Given the description of an element on the screen output the (x, y) to click on. 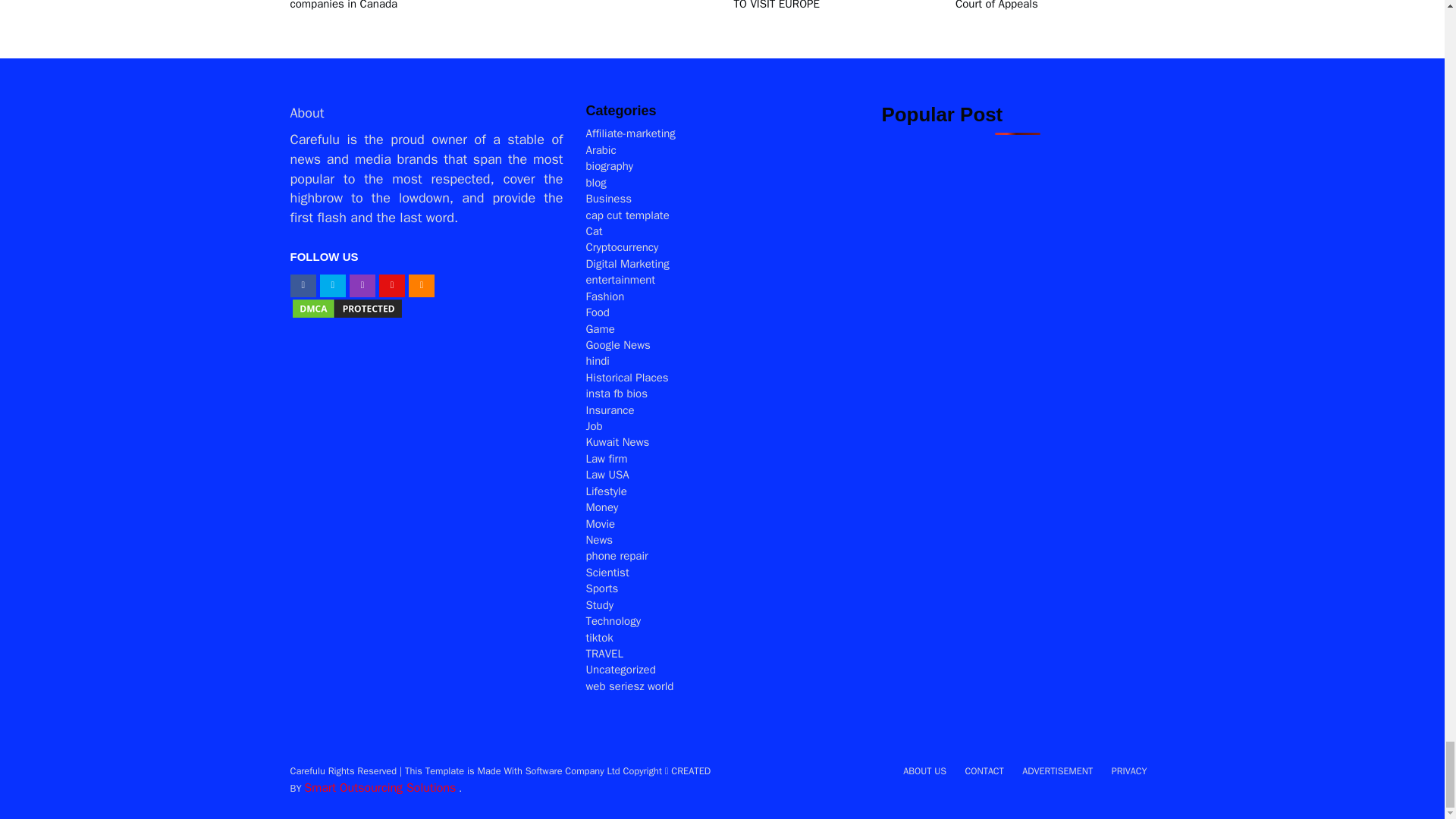
DMCA.com Protection Status (346, 307)
